Given the description of an element on the screen output the (x, y) to click on. 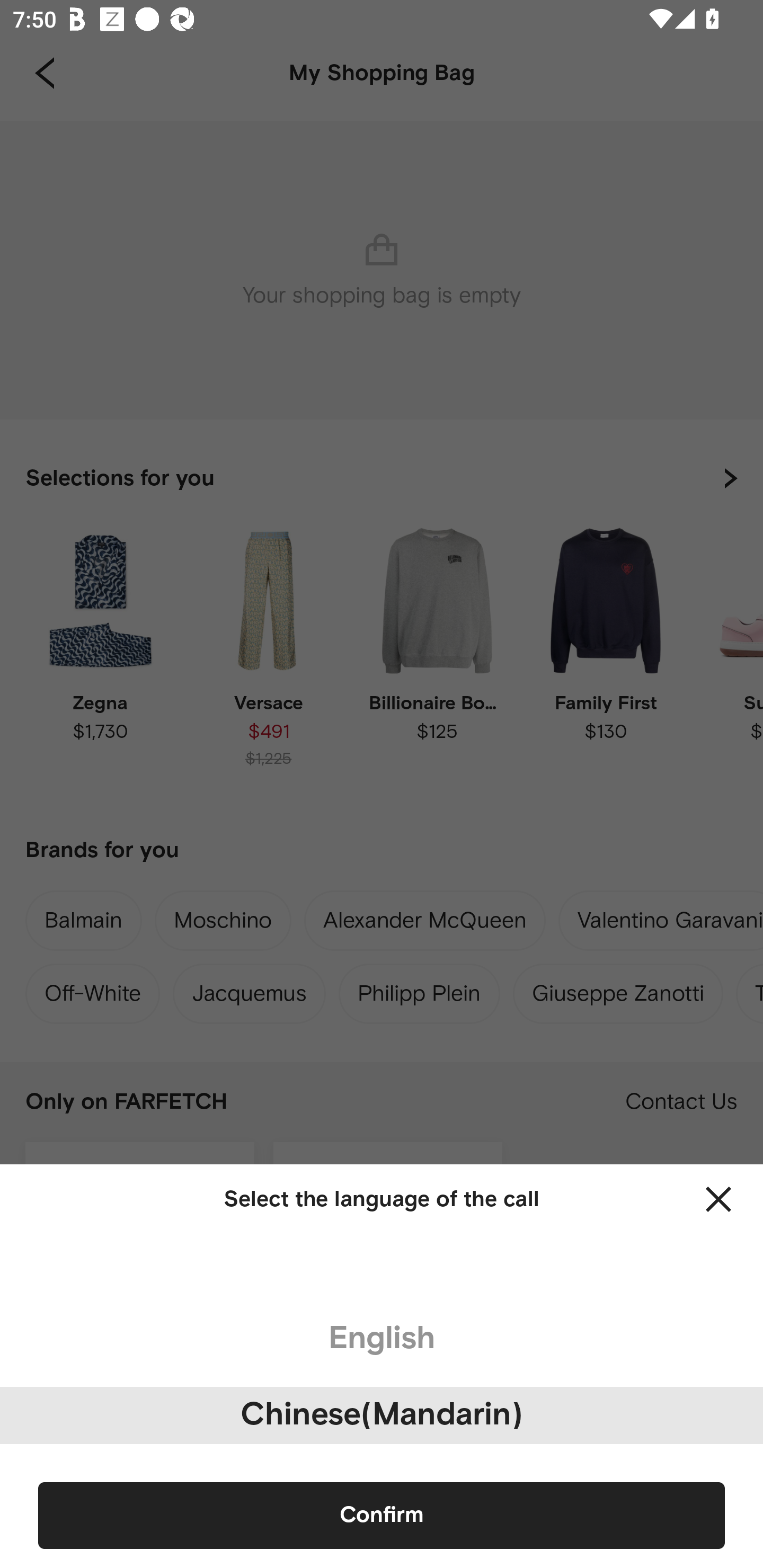
English (381, 1338)
Chinese(Mandarin) (381, 1415)
Confirm (381, 1515)
